Given the description of an element on the screen output the (x, y) to click on. 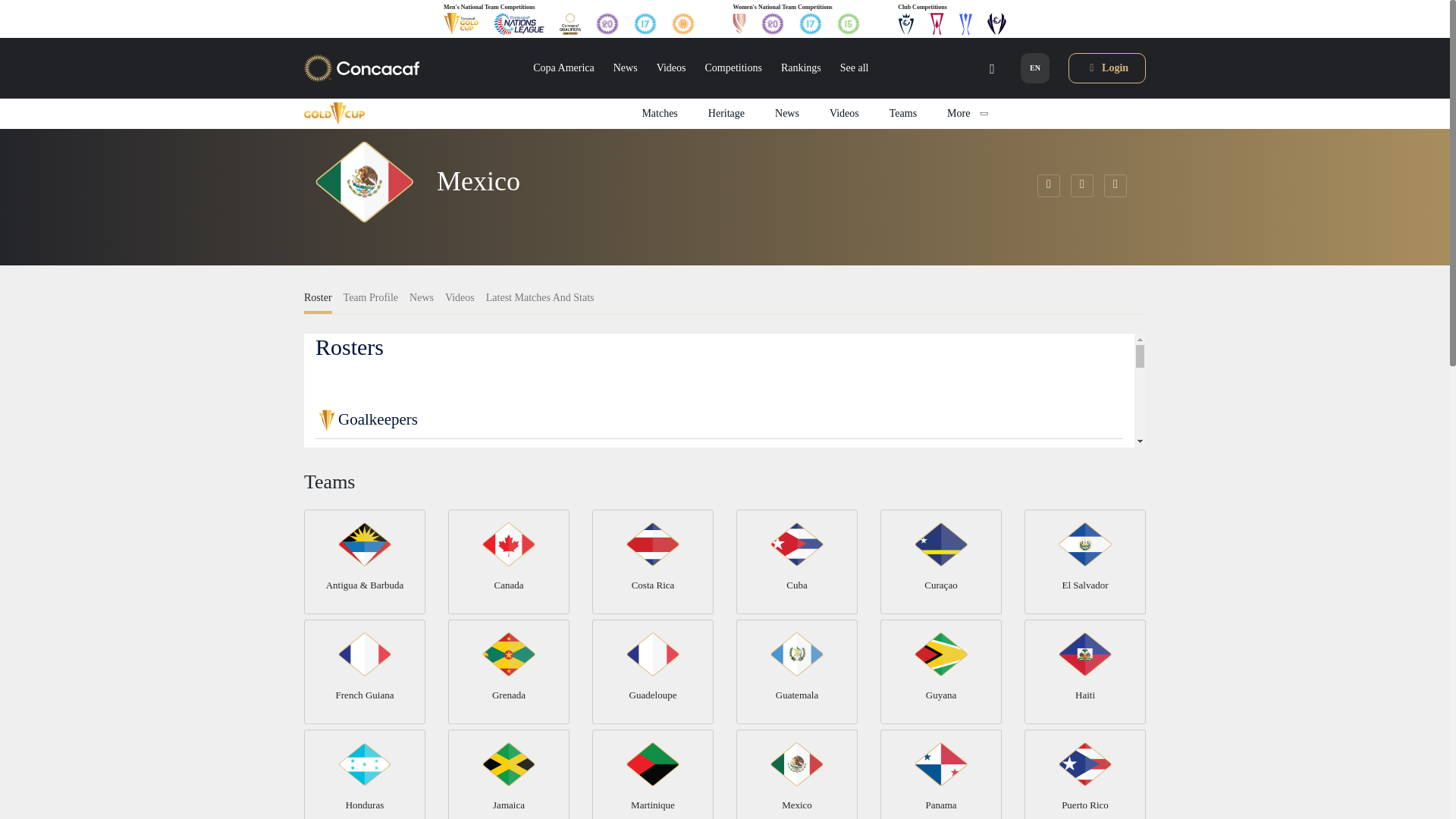
News (624, 67)
Login (1105, 68)
Videos (670, 67)
Copa America (563, 67)
